Given the description of an element on the screen output the (x, y) to click on. 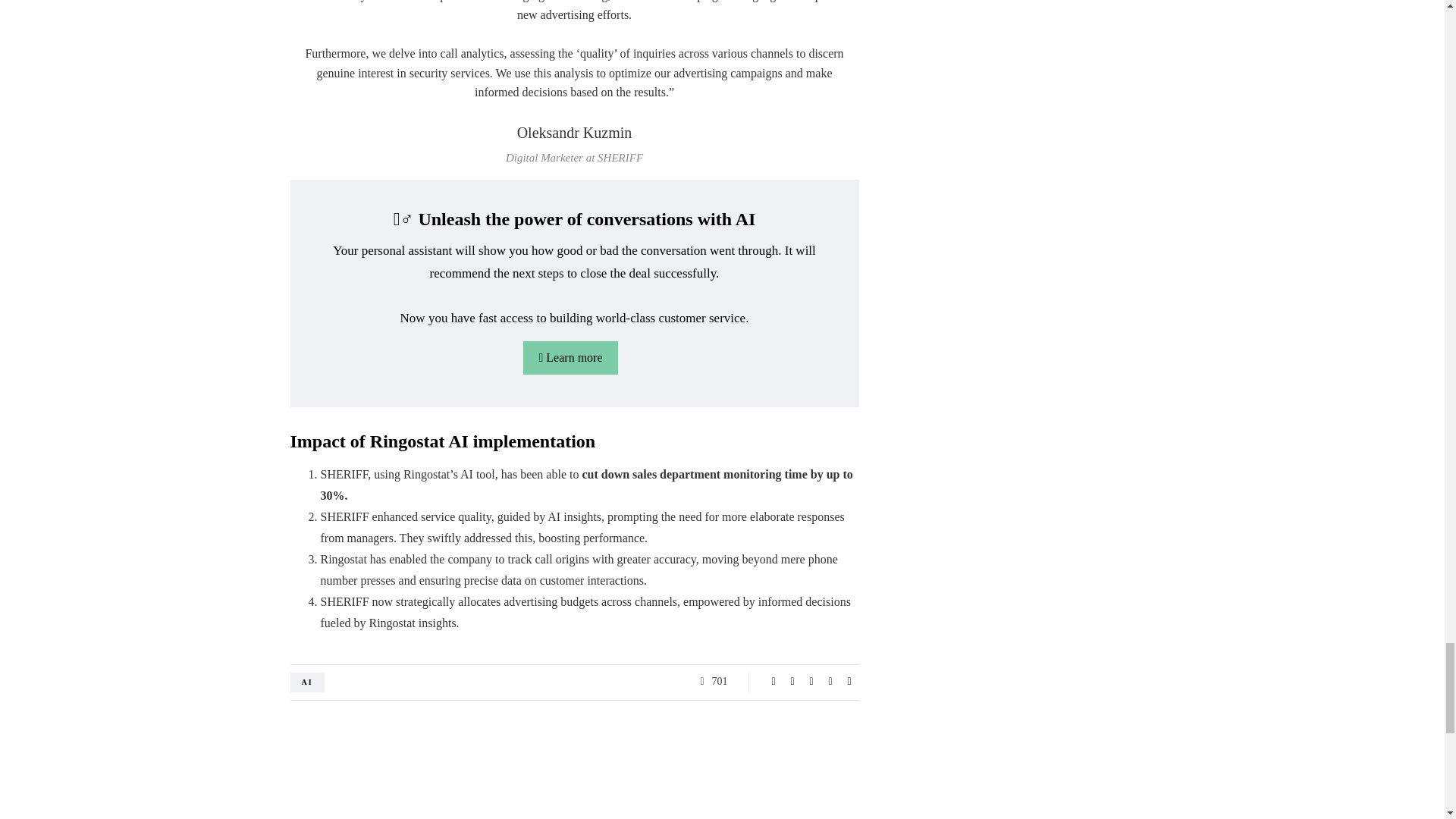
Tweet this (792, 681)
Share with LinkedIn (811, 681)
Share with Facebook (773, 681)
Share by Email (849, 681)
Share to Telegram (830, 681)
